Given the description of an element on the screen output the (x, y) to click on. 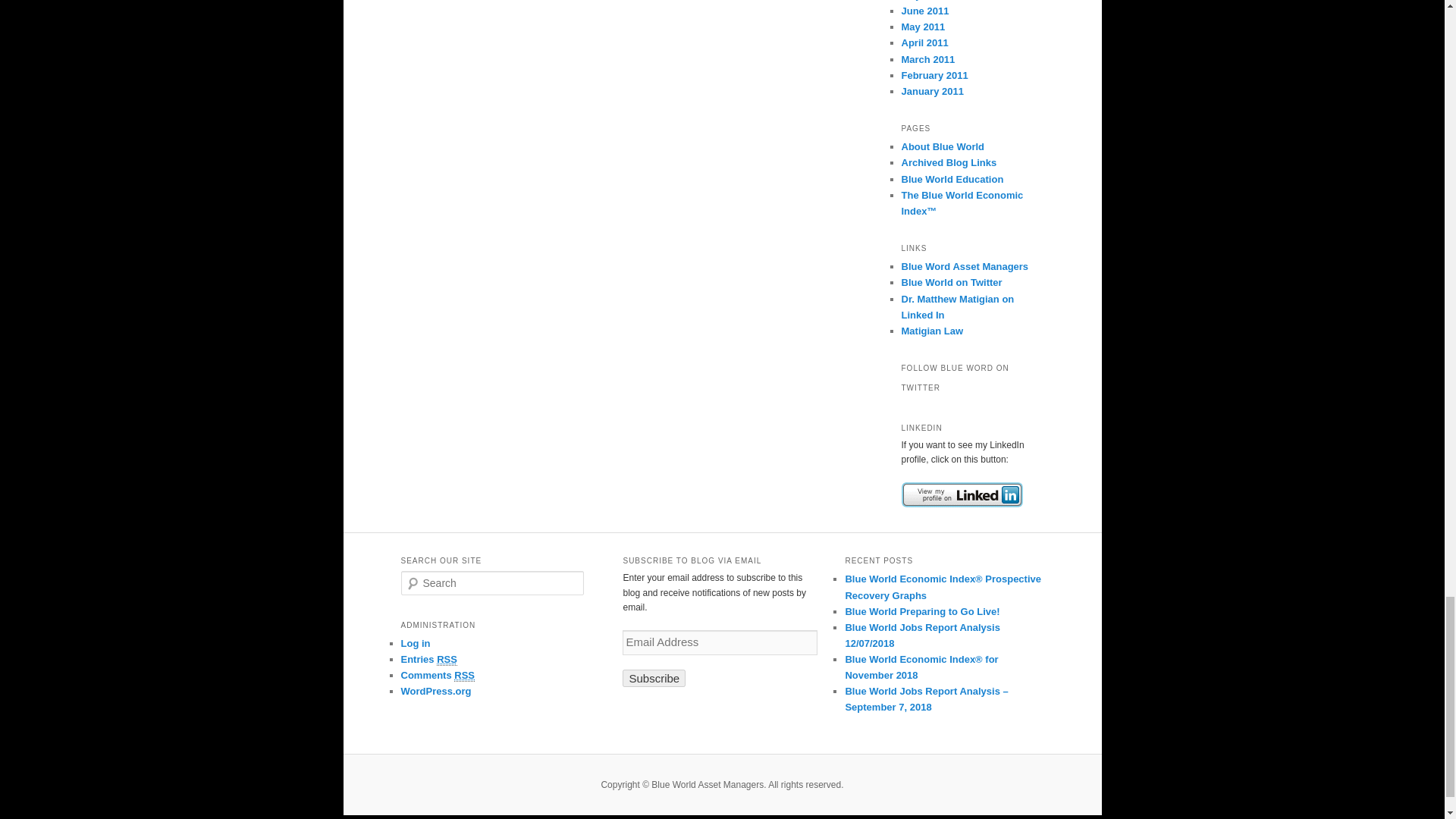
Subscribe (654, 678)
Really Simple Syndication (446, 659)
Really Simple Syndication (464, 675)
